Given the description of an element on the screen output the (x, y) to click on. 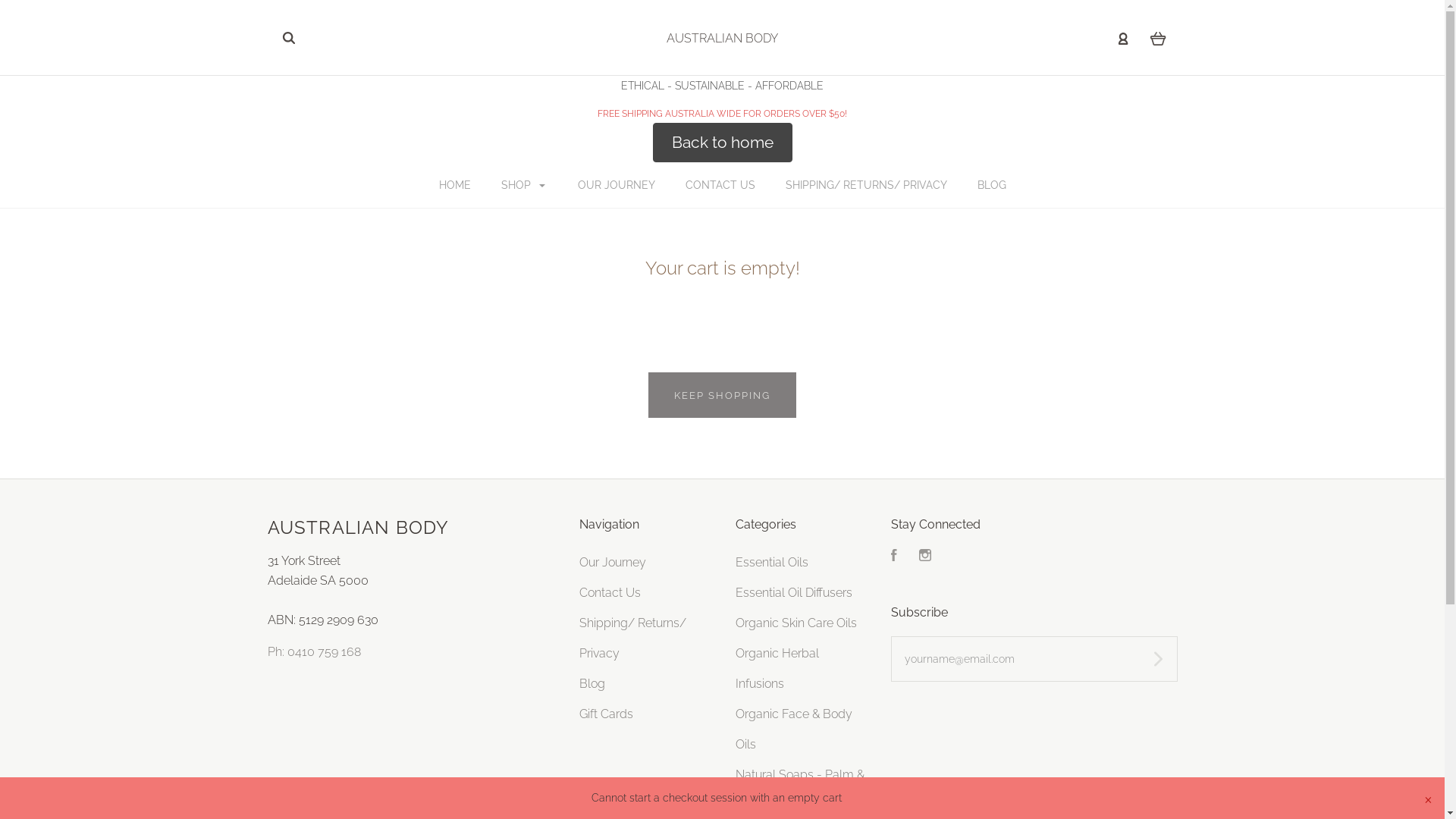
Organic Herbal Infusions Element type: text (777, 668)
Contact Us Element type: text (609, 592)
Essential Oils Element type: text (771, 562)
Back to home Element type: text (721, 142)
Our Journey Element type: text (612, 562)
HOME Element type: text (453, 185)
Shipping/ Returns/ Privacy Element type: text (632, 637)
Organic Face & Body Oils Element type: text (793, 728)
SHIPPING/ RETURNS/ PRIVACY Element type: text (865, 185)
BLOG Element type: text (991, 185)
OUR JOURNEY Element type: text (616, 185)
KEEP SHOPPING Element type: text (722, 394)
instagram
Instagram Element type: text (925, 556)
Ph: 0410 759 168 Element type: text (313, 651)
AUSTRALIAN BODY Element type: text (722, 37)
Gift Cards Element type: text (606, 713)
Blog Element type: text (592, 683)
SHOP Element type: text (523, 185)
CONTACT US Element type: text (719, 185)
Natural Soaps - Palm & GMO Free Element type: text (799, 789)
0 Element type: text (1157, 37)
Organic Skin Care Oils Element type: text (795, 622)
facebook
Facebook Element type: text (894, 556)
Essential Oil Diffusers Element type: text (793, 592)
